Given the description of an element on the screen output the (x, y) to click on. 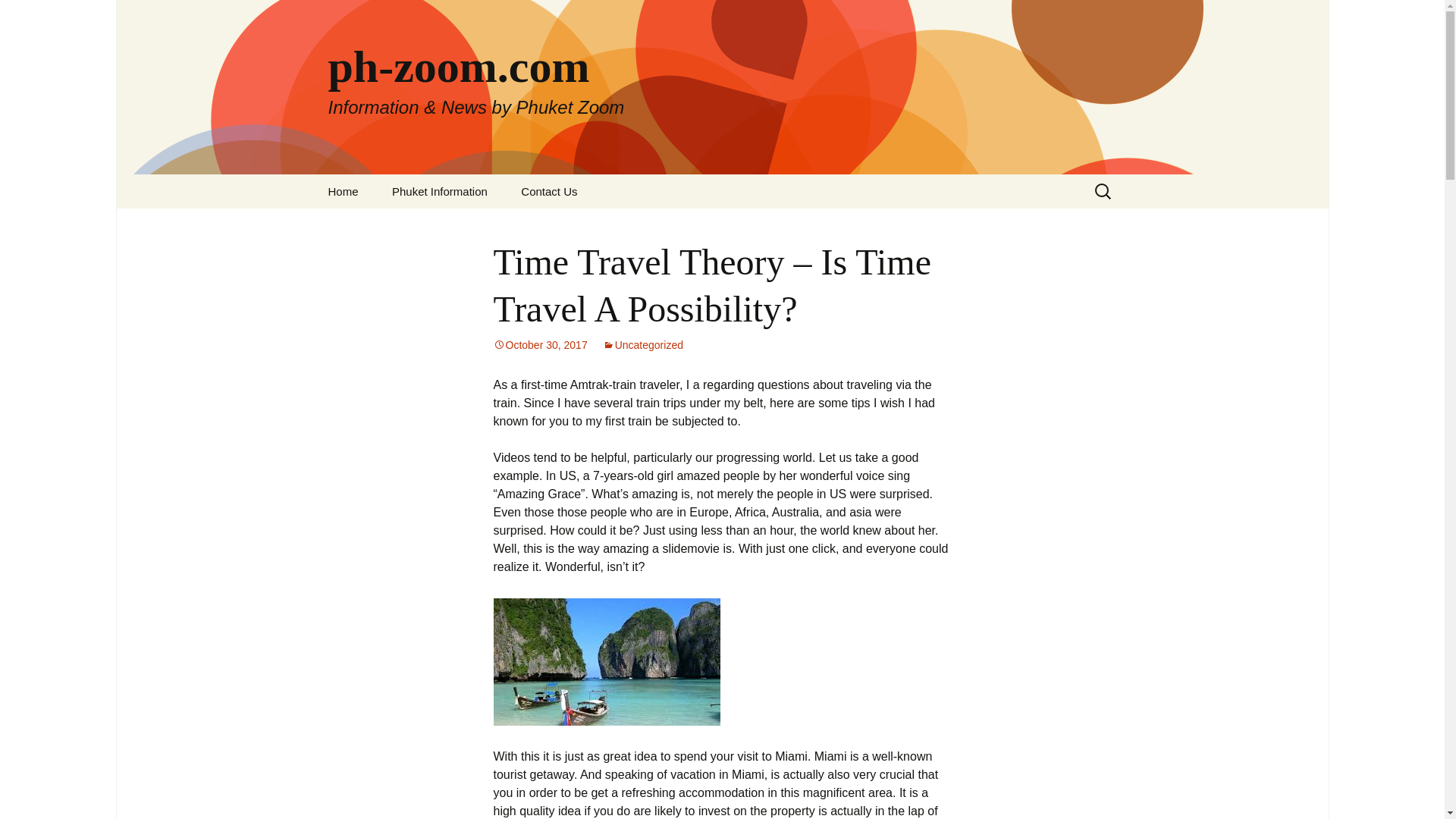
Contact Us (548, 191)
Search (34, 15)
Phuket Information (439, 191)
Home (342, 191)
Search (18, 15)
October 30, 2017 (539, 345)
Uncategorized (642, 345)
